Given the description of an element on the screen output the (x, y) to click on. 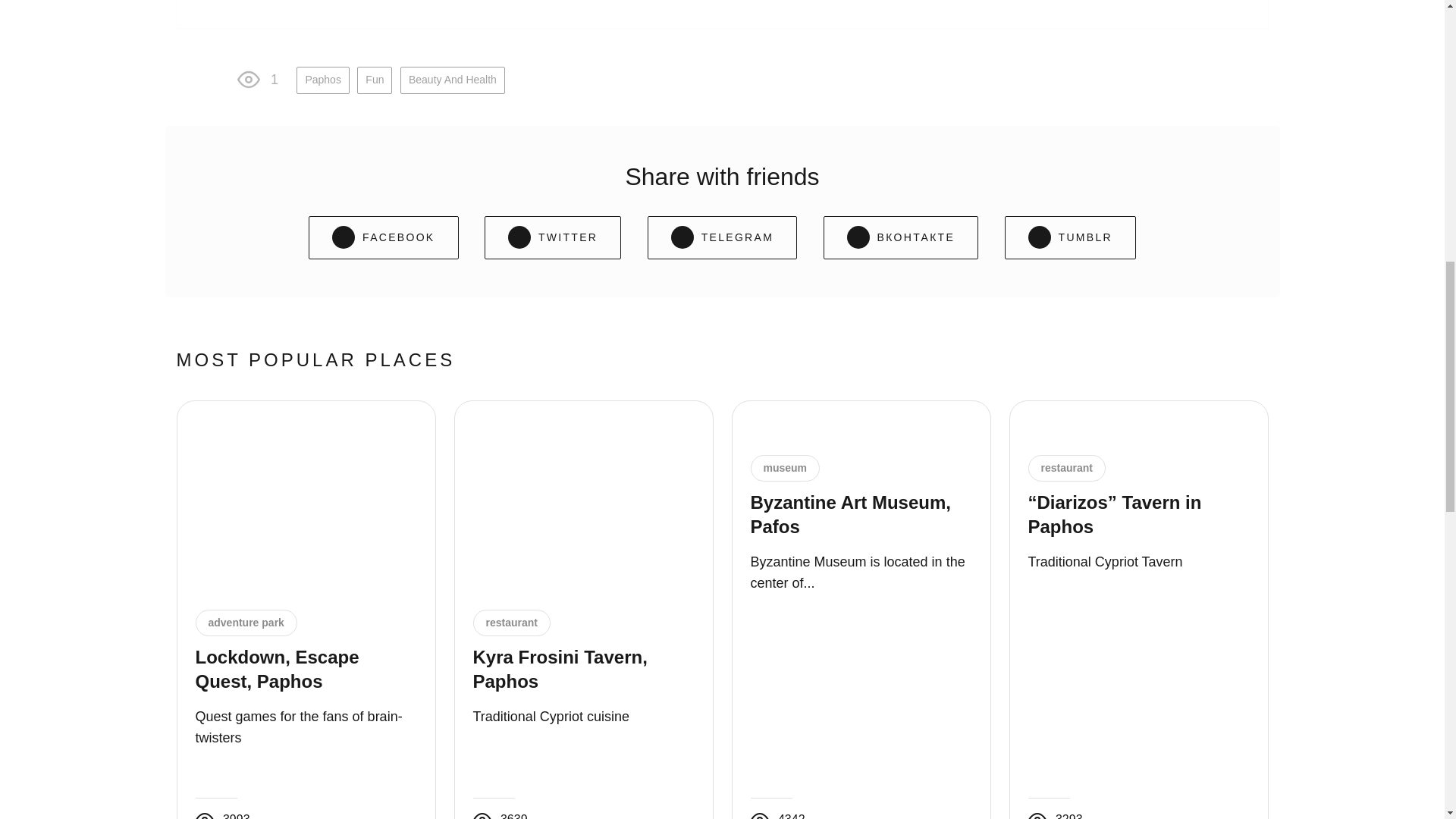
Lockdown, Escape Quest, Paphos (277, 669)
TELEGRAM (721, 237)
TUMBLR (1069, 237)
Byzantine Art Museum, Pafos (850, 514)
Traditional Cypriot cuisine (550, 716)
museum (784, 467)
Quest games for the fans of brain-twisters (299, 727)
Beauty And Health (452, 80)
Fun (373, 80)
TWITTER (552, 237)
